Given the description of an element on the screen output the (x, y) to click on. 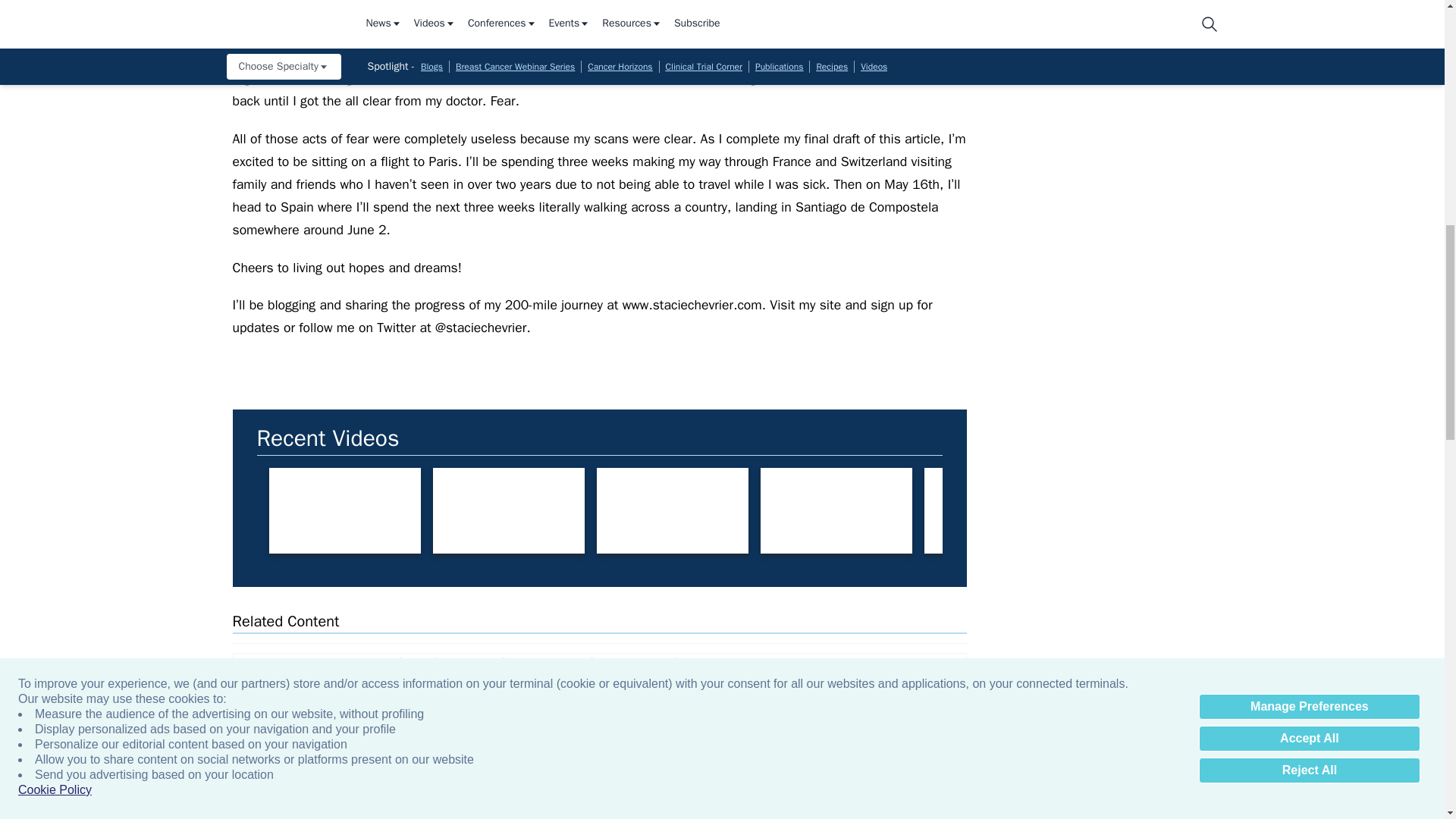
Image of a woman wearing a red tank top. (1163, 510)
Image of a woman with a brown hair tied into a bun.  (1326, 510)
Dr. Kelly Stratton  (343, 510)
Image of lymphoma cells. (305, 700)
